Given the description of an element on the screen output the (x, y) to click on. 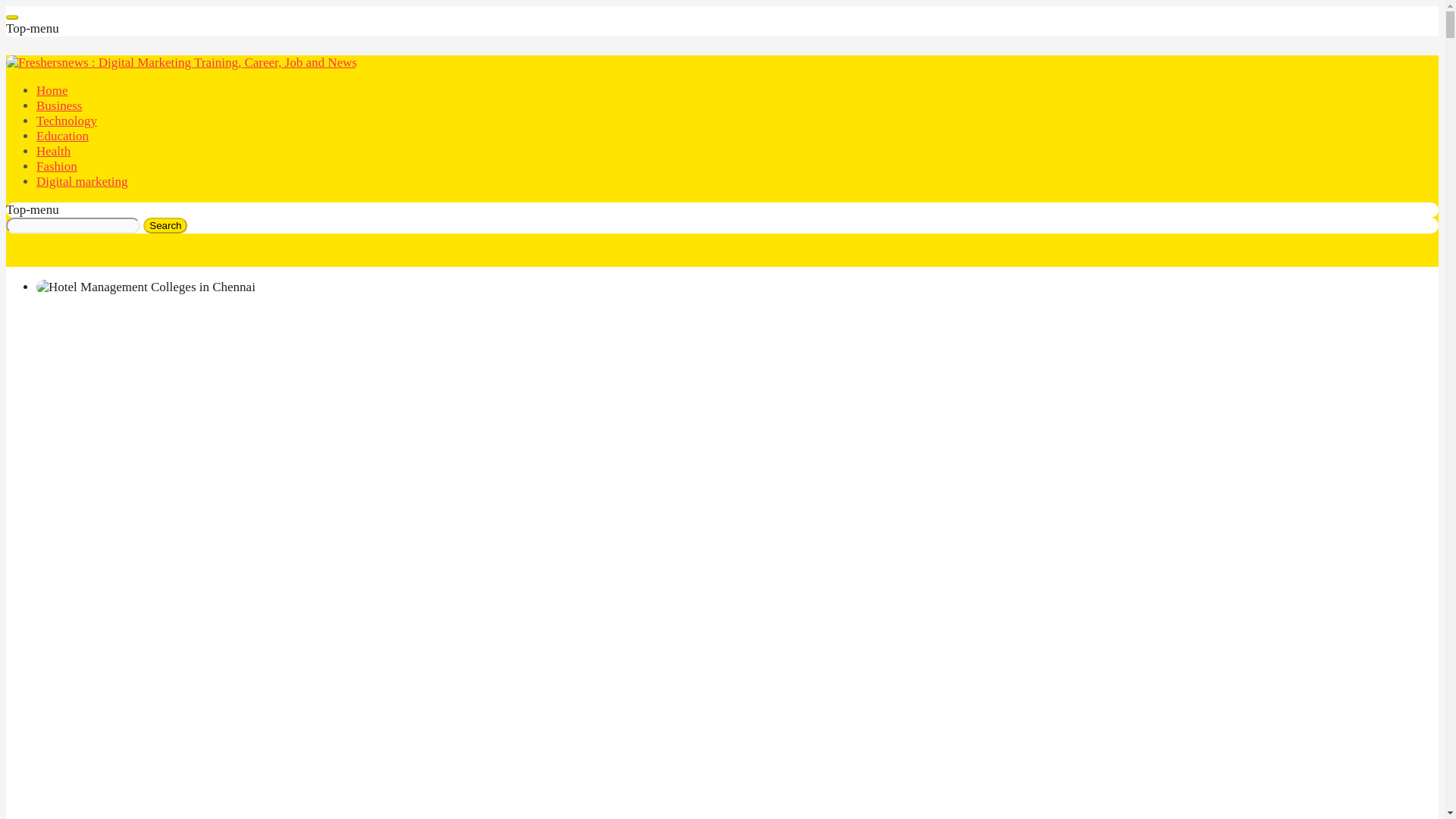
Digital marketing (82, 181)
Education (62, 135)
Search (164, 225)
Health (52, 151)
Home (52, 90)
Business (58, 105)
Fashion (56, 165)
Technology (66, 120)
